Given the description of an element on the screen output the (x, y) to click on. 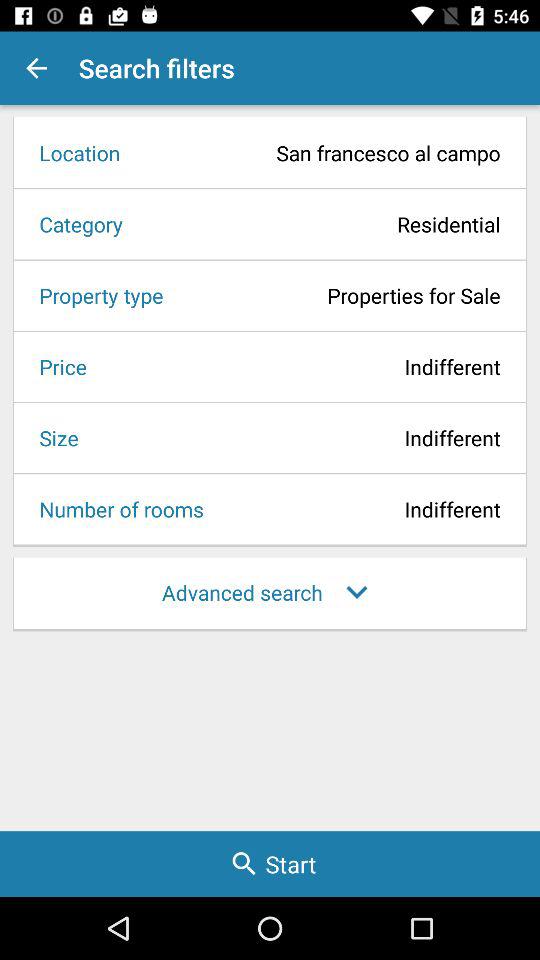
turn off the property type icon (94, 295)
